Given the description of an element on the screen output the (x, y) to click on. 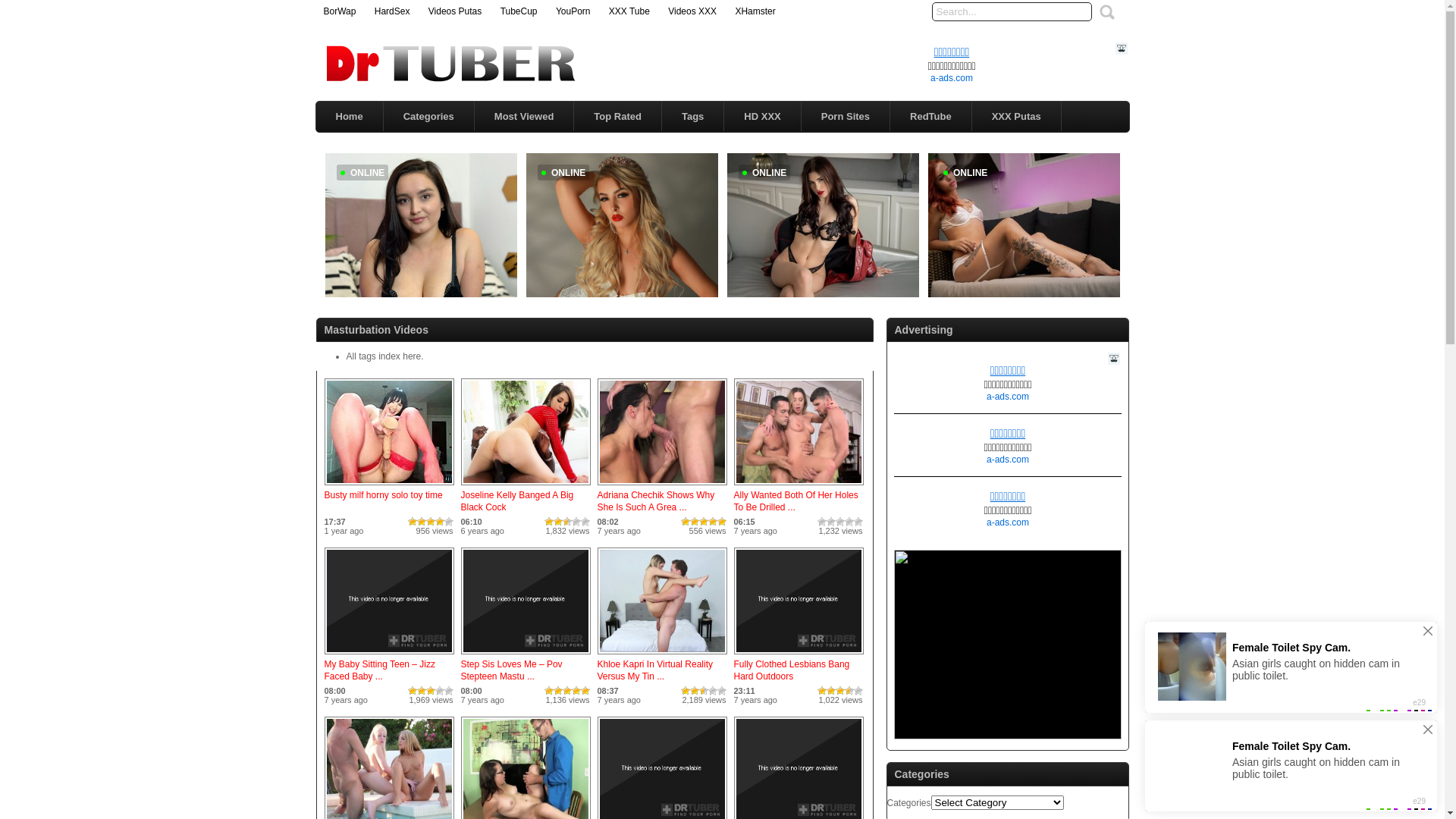
1 Star Element type: hover (685, 521)
4 Stars Element type: hover (575, 690)
Joseline Kelly Banged A Big Black Cock Element type: hover (525, 485)
1 Star Element type: hover (548, 690)
All tags index here. Element type: text (384, 356)
Top Rated Element type: text (617, 116)
Busty milf horny solo toy time Element type: text (383, 494)
Videos XXX Element type: text (692, 11)
4 Stars Element type: hover (848, 521)
Porn Sites Element type: text (845, 116)
3 Stars Element type: hover (430, 690)
4 Stars Element type: hover (712, 521)
5 Stars Element type: hover (448, 690)
HD XXX Element type: text (762, 116)
2 Stars Element type: hover (694, 690)
4 Stars Element type: hover (439, 690)
1 Star Element type: hover (821, 521)
XHamster Element type: text (754, 11)
Fully Clothed Lesbians Bang Hard Outdoors Element type: hover (798, 654)
Videos Putas Element type: text (455, 11)
4 Stars Element type: hover (848, 690)
YouPorn Element type: text (572, 11)
4 Stars Element type: hover (439, 521)
3 Stars Element type: hover (430, 521)
3 Stars Element type: hover (839, 521)
3 Stars Element type: hover (703, 690)
HardSex Element type: text (392, 11)
Fully Clothed Lesbians Bang Hard Outdoors Element type: text (792, 669)
1 Star Element type: hover (412, 521)
XXX Tube Element type: text (628, 11)
RedTube Element type: text (930, 116)
Categories Element type: text (428, 116)
3 Stars Element type: hover (566, 521)
2 Stars Element type: hover (830, 690)
TubeCup Element type: text (518, 11)
Ally Wanted Both Of Her Holes To Be Drilled By Two Fat Dicks Element type: hover (798, 485)
Busty milf horny solo toy time Element type: hover (389, 485)
3 Stars Element type: hover (566, 690)
3 Stars Element type: hover (703, 521)
Ally Wanted Both Of Her Holes To Be Drilled ... Element type: text (796, 500)
Adriana Chechik Shows Why She Is Such A Great Fuck Element type: hover (662, 485)
5 Stars Element type: hover (721, 521)
1 Star Element type: hover (412, 690)
Home Element type: text (348, 116)
2 Stars Element type: hover (421, 690)
2 Stars Element type: hover (557, 690)
2 Stars Element type: hover (557, 521)
5 Stars Element type: hover (448, 521)
Adriana Chechik Shows Why She Is Such A Grea ... Element type: text (656, 500)
2 Stars Element type: hover (830, 521)
1 Star Element type: hover (685, 690)
5 Stars Element type: hover (584, 690)
5 Stars Element type: hover (857, 521)
1 Star Element type: hover (548, 521)
Tags Element type: text (692, 116)
5 Stars Element type: hover (721, 690)
2 Stars Element type: hover (421, 521)
Khloe Kapri In Virtual Reality Versus My Tiny Step Sister Element type: hover (662, 654)
Khloe Kapri In Virtual Reality Versus My Tin ... Element type: text (655, 669)
5 Stars Element type: hover (857, 690)
1 Star Element type: hover (821, 690)
Most Viewed Element type: text (524, 116)
XXX Putas Element type: text (1016, 116)
BorWap Element type: text (339, 11)
4 Stars Element type: hover (712, 690)
3 Stars Element type: hover (839, 690)
4 Stars Element type: hover (575, 521)
Joseline Kelly Banged A Big Black Cock Element type: text (517, 500)
2 Stars Element type: hover (694, 521)
5 Stars Element type: hover (584, 521)
